Given the description of an element on the screen output the (x, y) to click on. 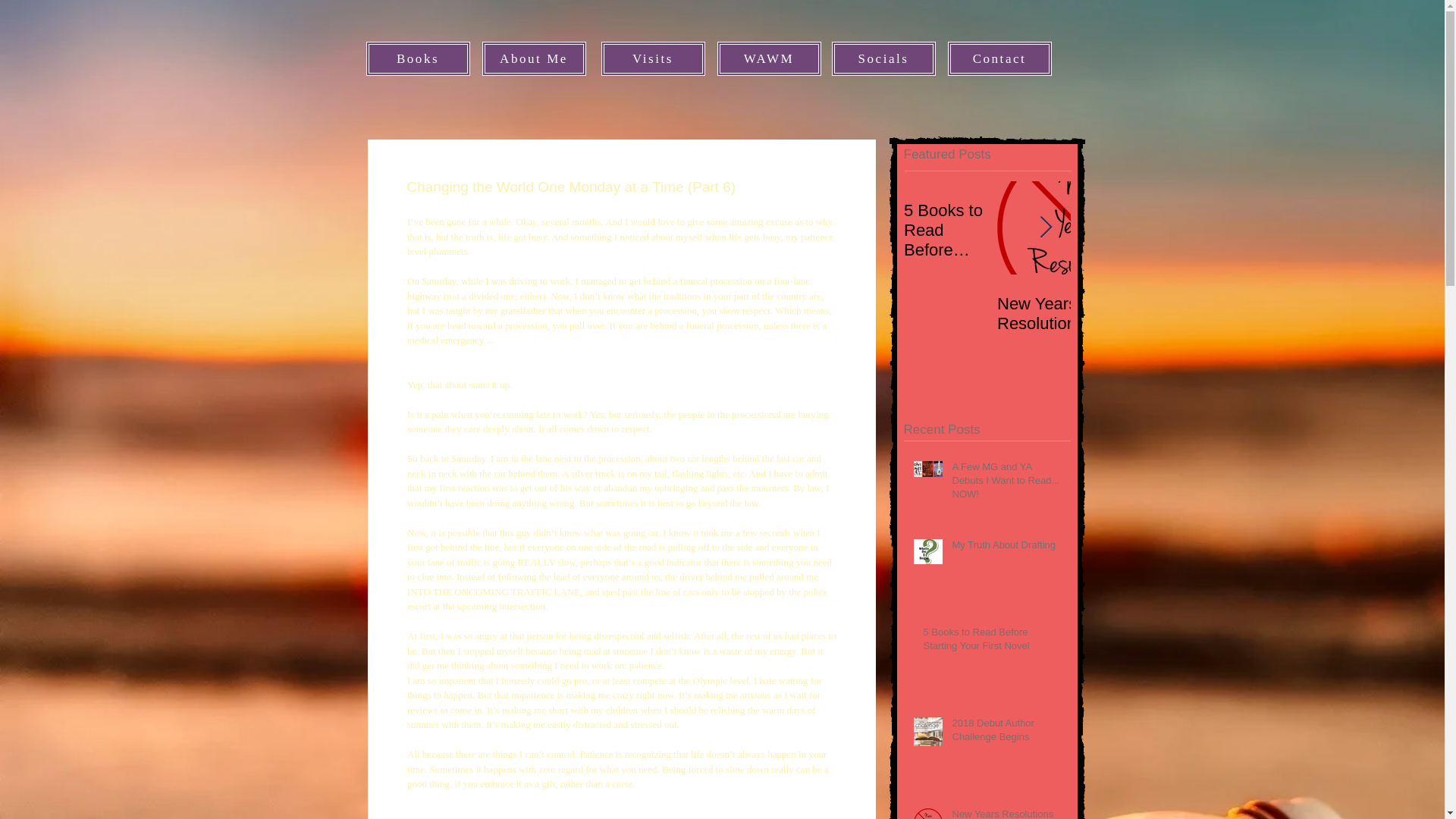
2018 Debut Author Challenge Begins (1006, 733)
My Truth About Drafting (1006, 547)
A Few MG and YA Debuts I Want to Read... NOW! (1006, 483)
About Me (533, 58)
Socials (882, 58)
Contact (999, 58)
New Years Resolutions Suck! (1006, 813)
5 Books to Read Before Starting Your First Novel (992, 642)
Books (416, 58)
WAWM (769, 58)
